Given the description of an element on the screen output the (x, y) to click on. 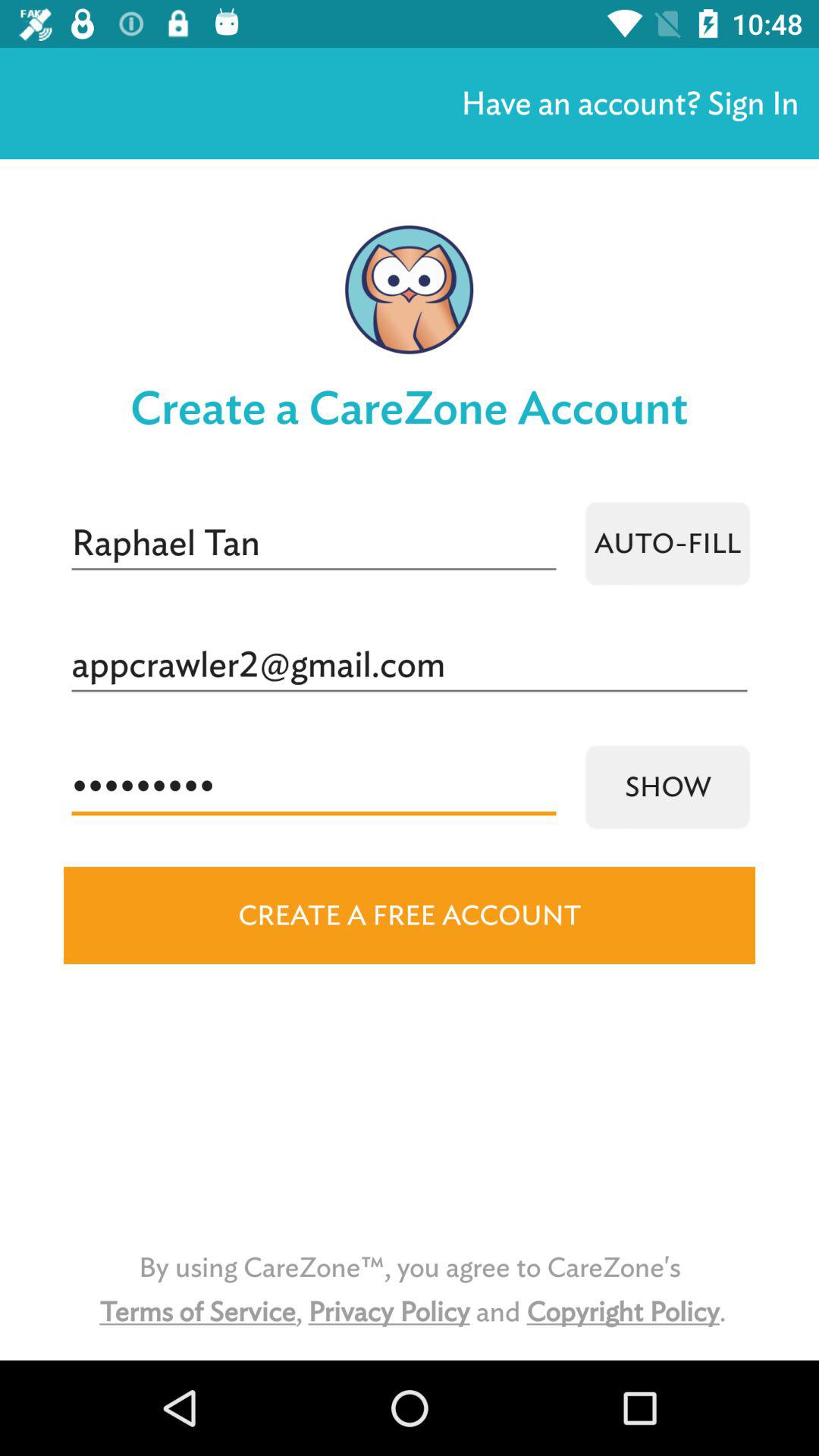
swipe until appcrawler2@gmail.com item (409, 665)
